Given the description of an element on the screen output the (x, y) to click on. 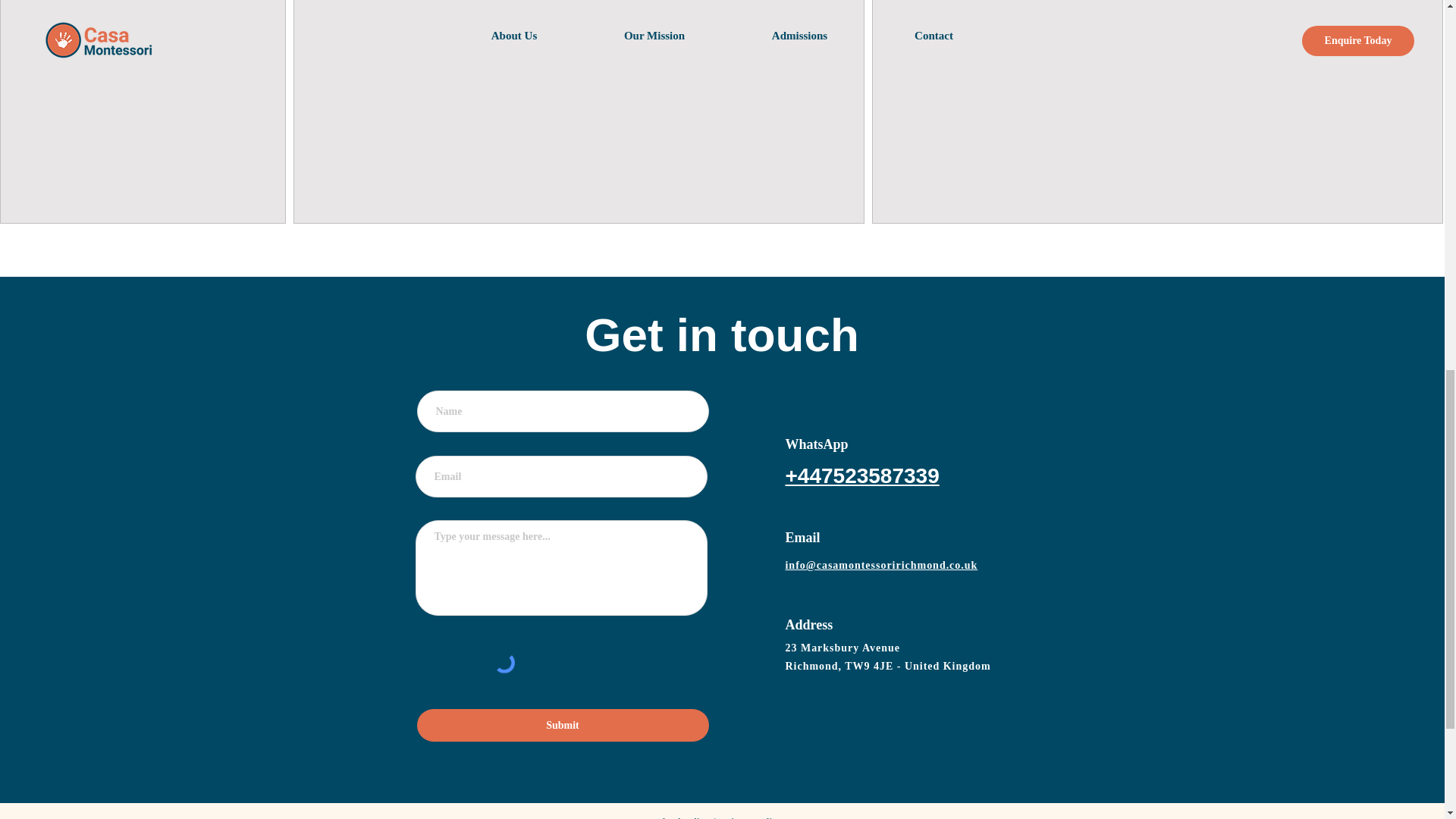
School Policy (680, 817)
Privacy Policy (750, 817)
Submit (562, 725)
